Given the description of an element on the screen output the (x, y) to click on. 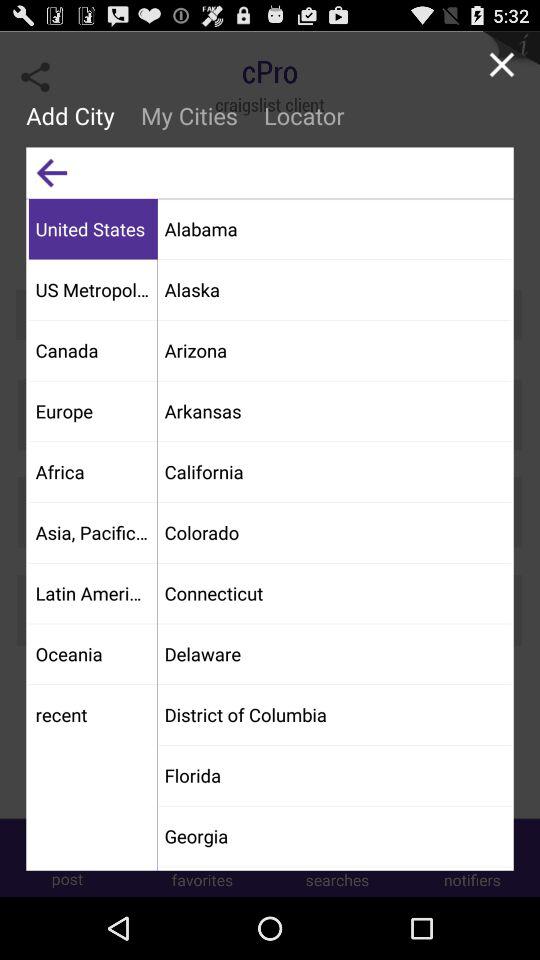
launch the georgia app (334, 835)
